Given the description of an element on the screen output the (x, y) to click on. 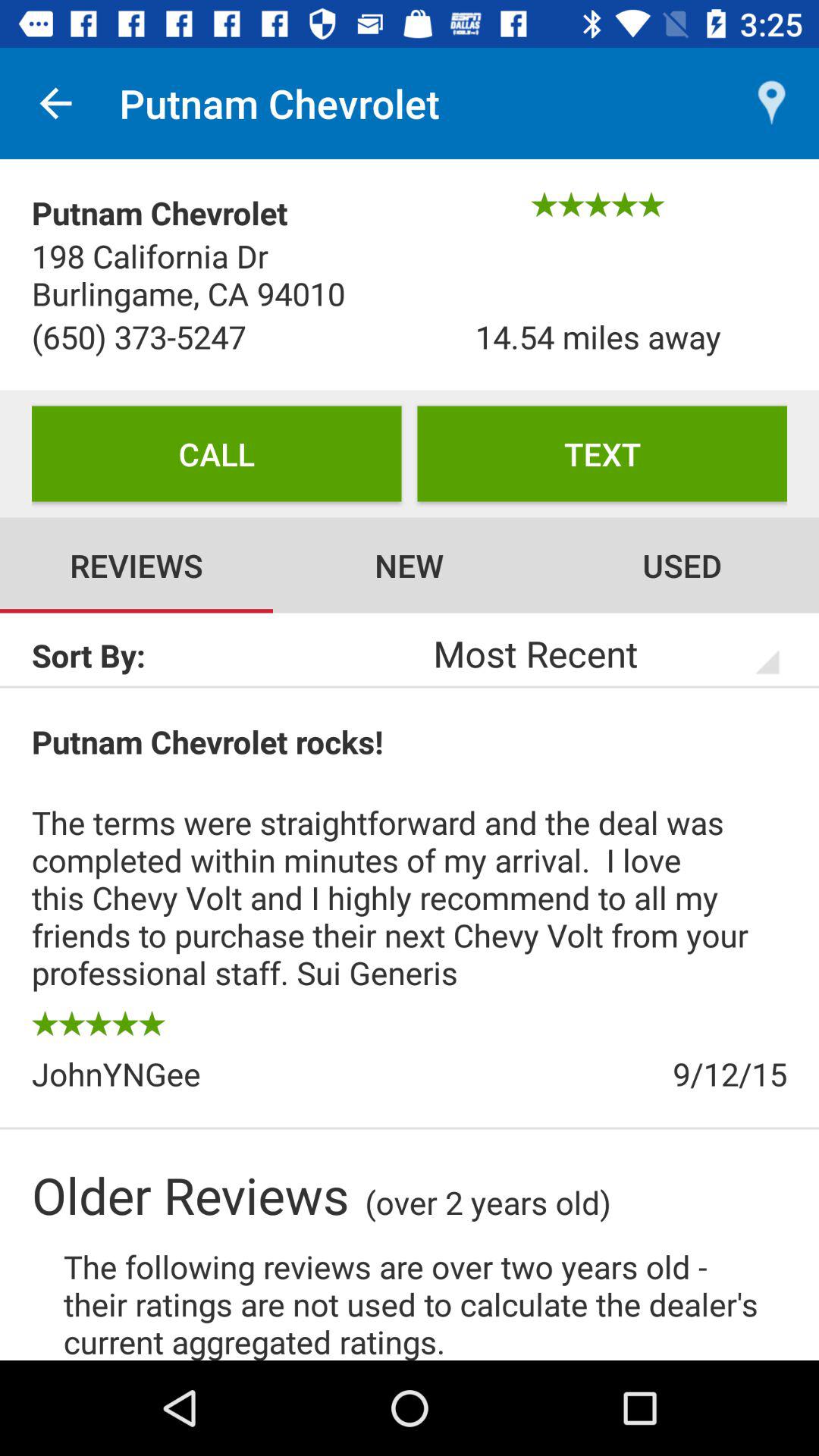
choose the item next to the putnam chevrolet icon (55, 103)
